Given the description of an element on the screen output the (x, y) to click on. 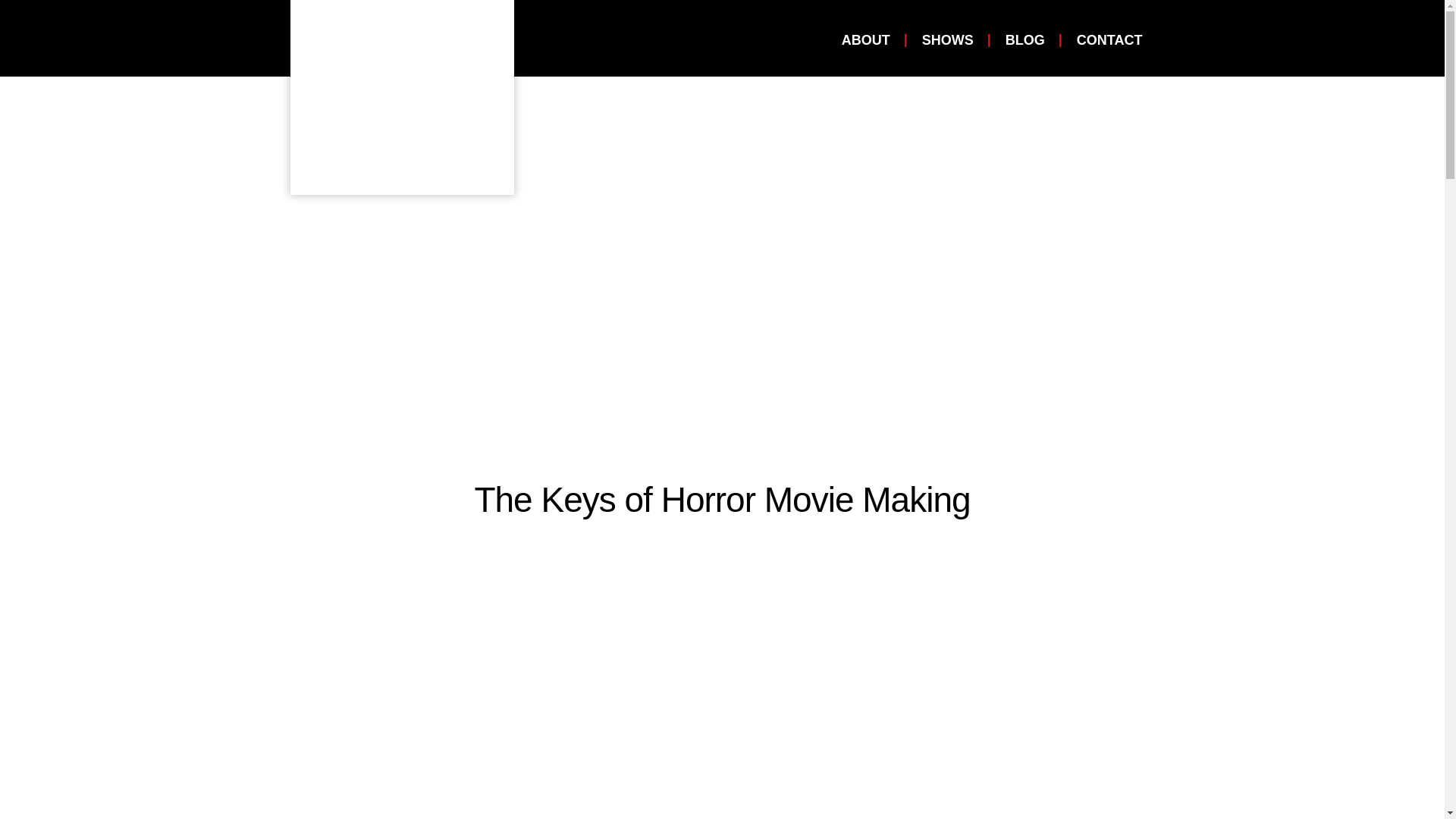
CONTACT (1109, 40)
The Keys of Horror Movie Making (721, 499)
Contact us (1109, 40)
The Keys of Horror Movie Making (721, 499)
ABOUT (865, 40)
SHOWS (947, 40)
George Davison Studios Home (401, 97)
About George Davison Studios (865, 40)
Shows and Commercials (947, 40)
BLOG (1024, 40)
